Given the description of an element on the screen output the (x, y) to click on. 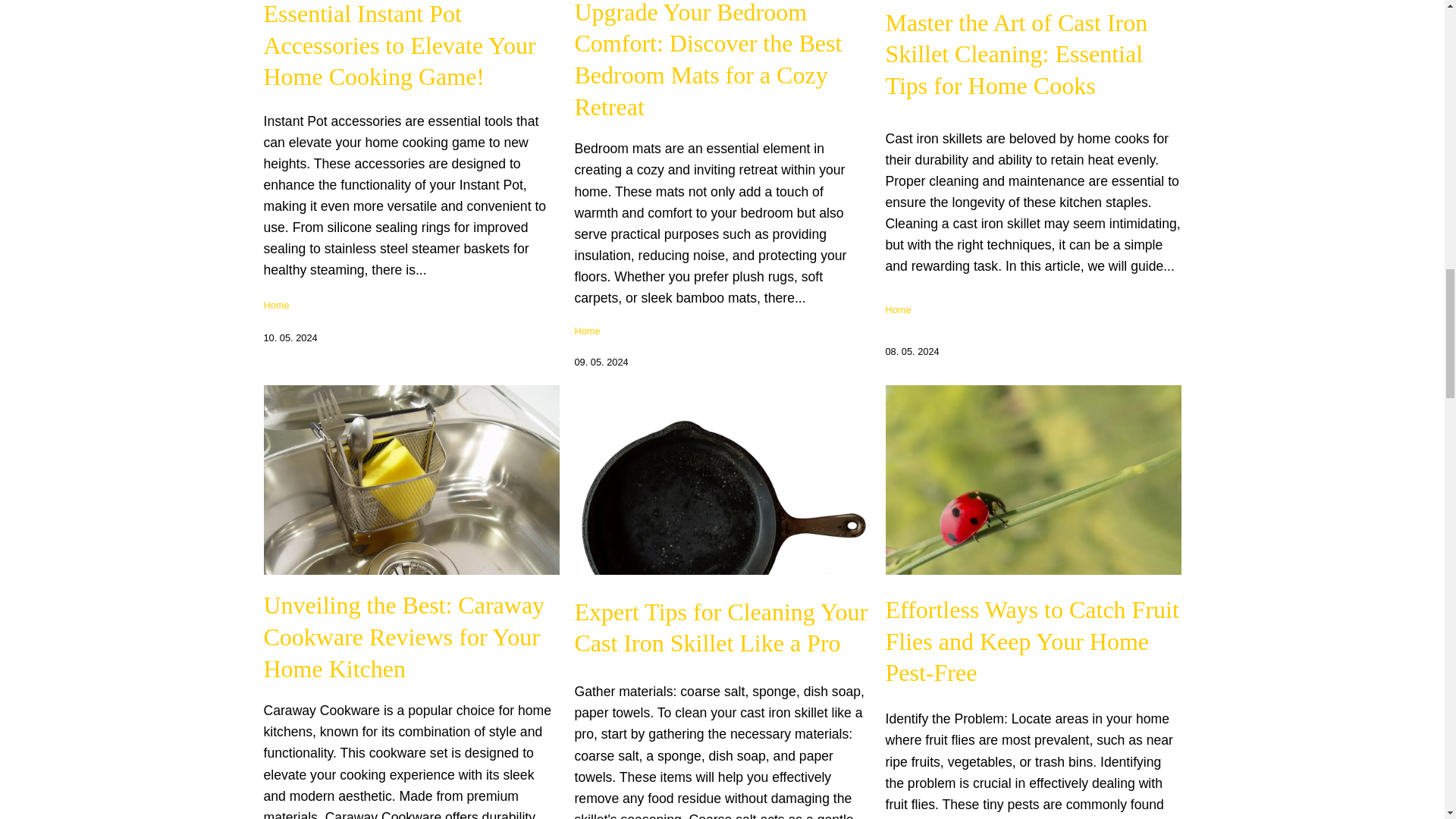
Home (898, 309)
Home (587, 330)
Home (276, 305)
